Given the description of an element on the screen output the (x, y) to click on. 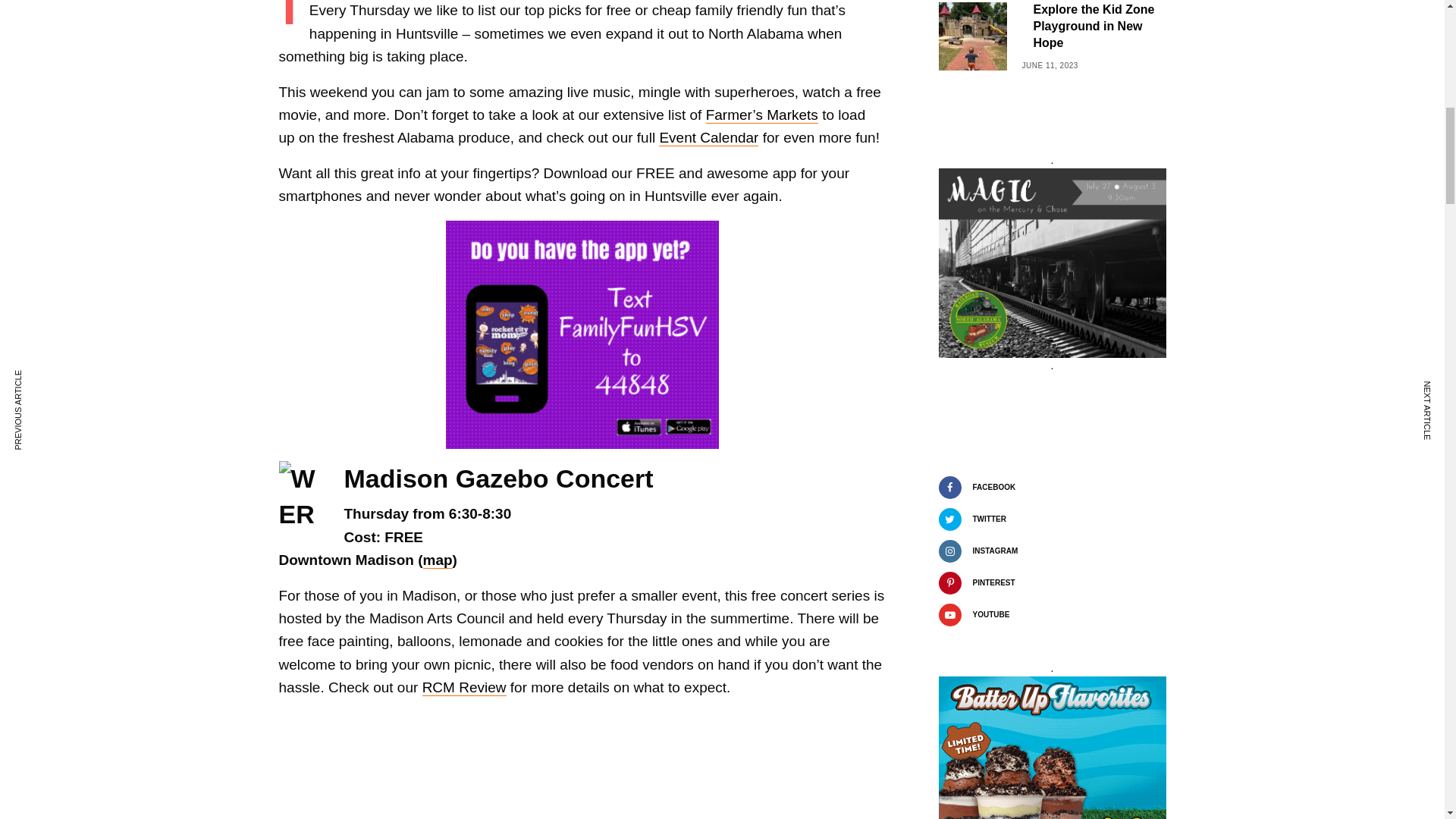
Explore the Kid Zone Playground in New Hope (1099, 26)
